Given the description of an element on the screen output the (x, y) to click on. 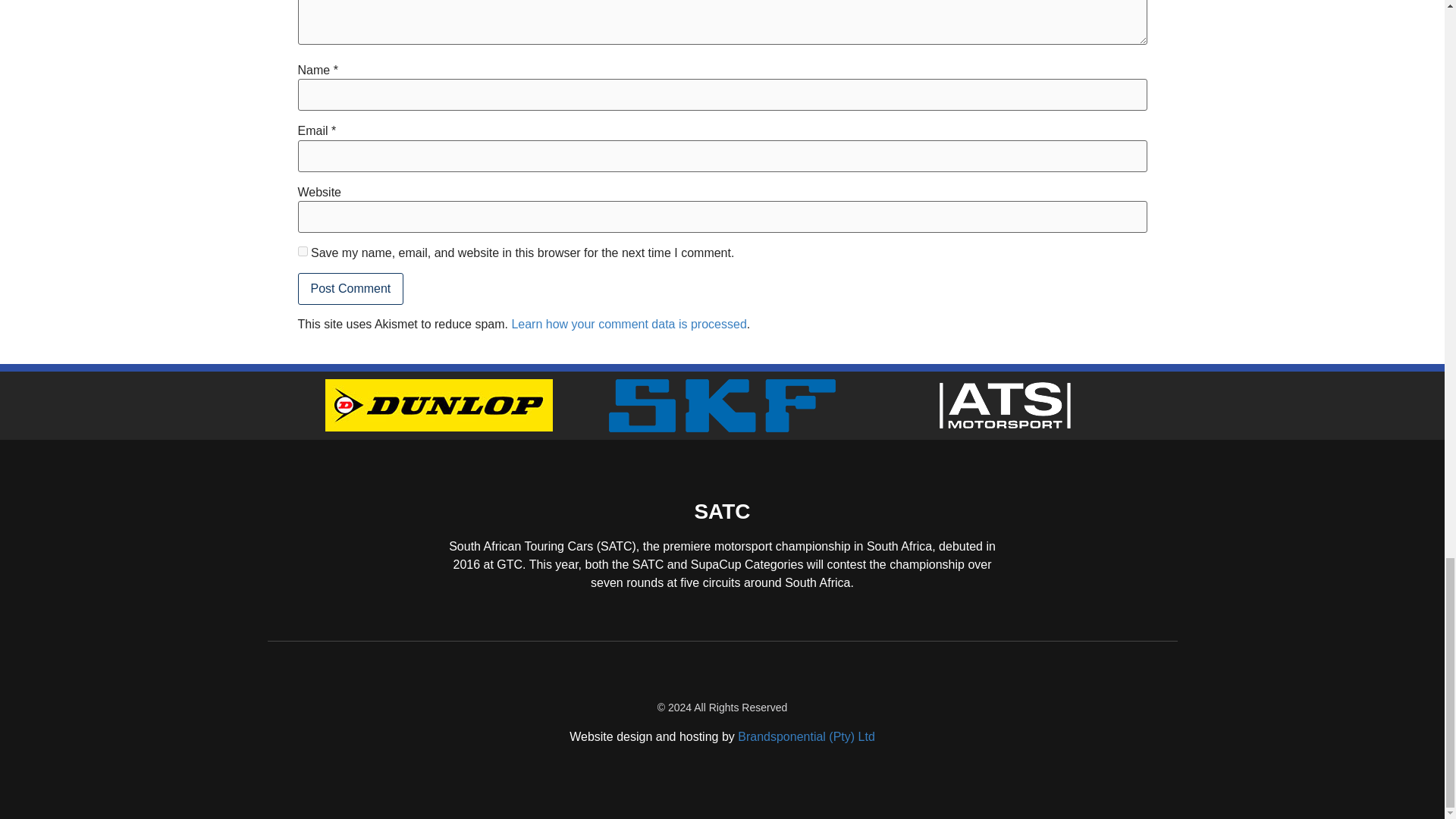
Post Comment (350, 288)
yes (302, 251)
